Given the description of an element on the screen output the (x, y) to click on. 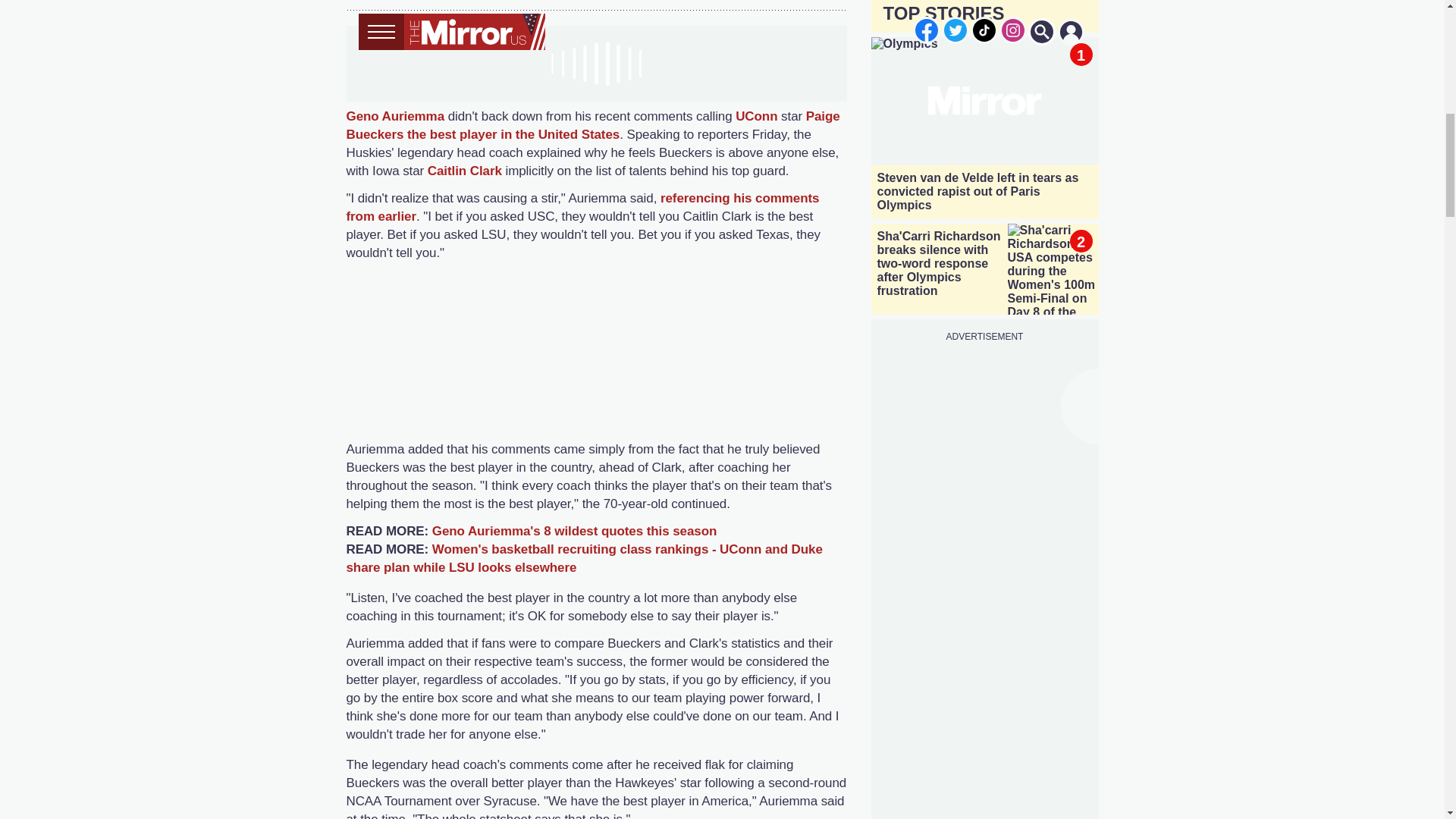
Taboola frame unit (595, 359)
